Given the description of an element on the screen output the (x, y) to click on. 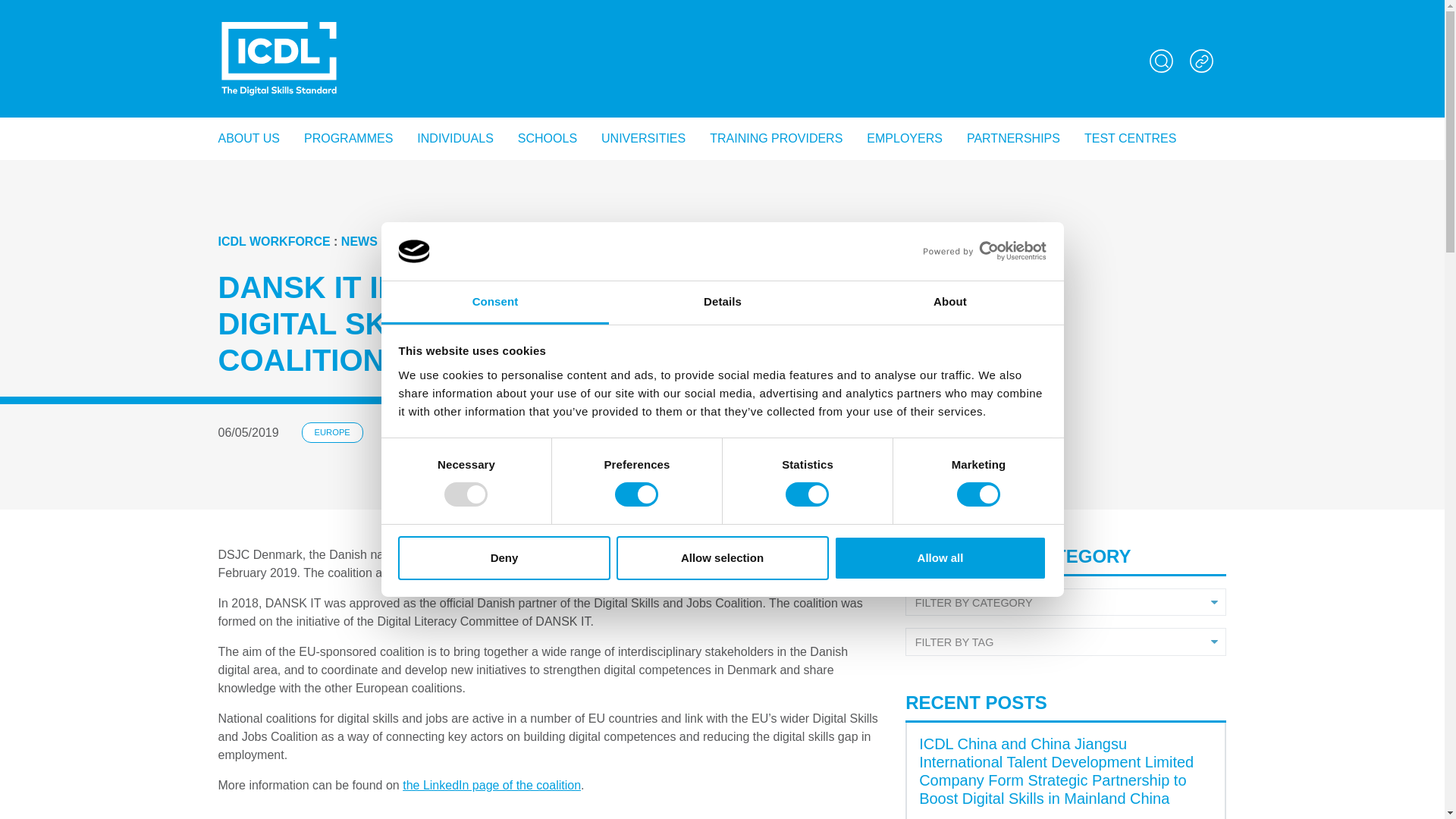
About (948, 302)
Details (721, 302)
Consent (494, 302)
